Given the description of an element on the screen output the (x, y) to click on. 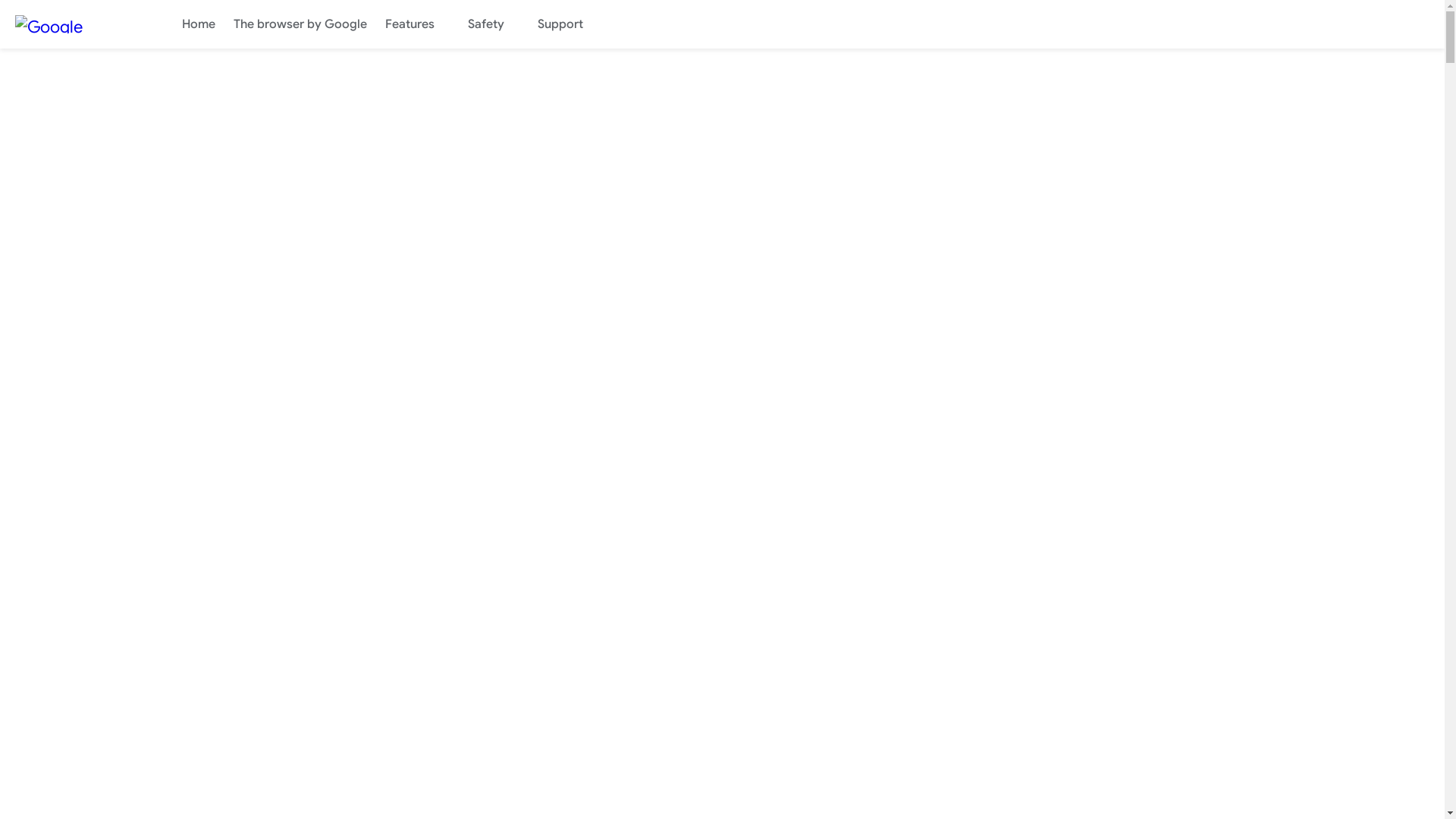
The browser by Google Element type: text (300, 23)
Safety Element type: text (493, 23)
Support Element type: text (567, 23)
Home Element type: text (198, 23)
Features Element type: text (417, 23)
Google Chrome Element type: hover (75, 24)
